Given the description of an element on the screen output the (x, y) to click on. 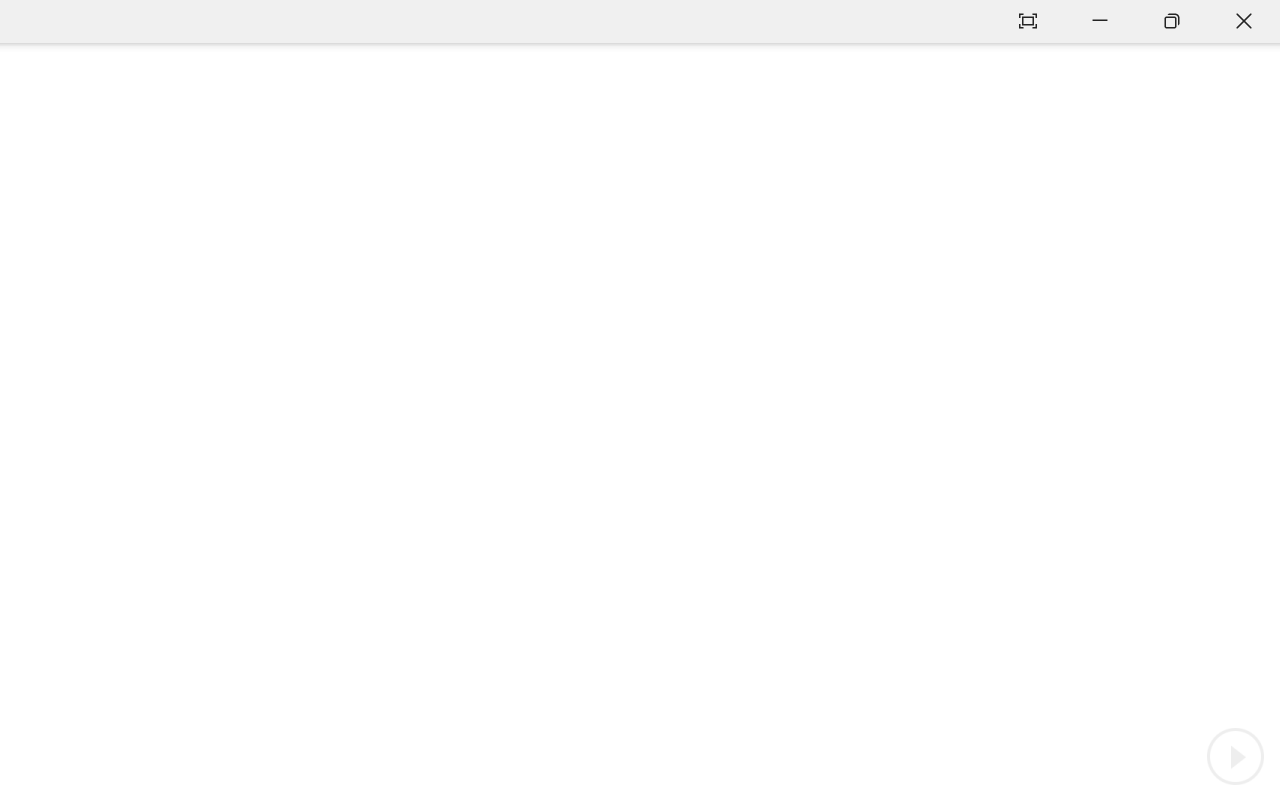
Auto-hide Reading Toolbar (1027, 21)
